Given the description of an element on the screen output the (x, y) to click on. 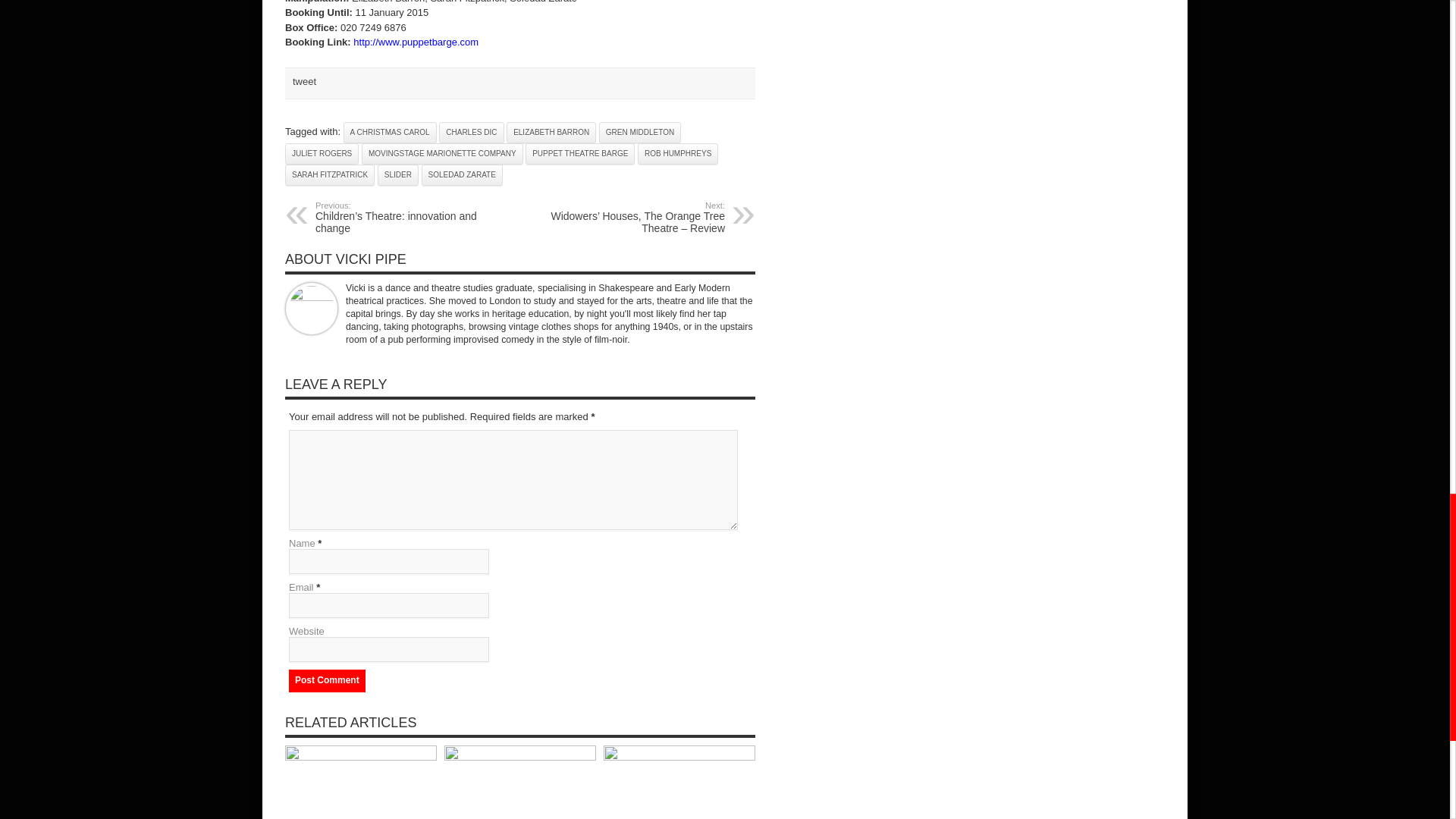
Good (412, 814)
Permalink to Review: How Dead Am I?, The Libra (519, 756)
Post Comment (326, 680)
